Given the description of an element on the screen output the (x, y) to click on. 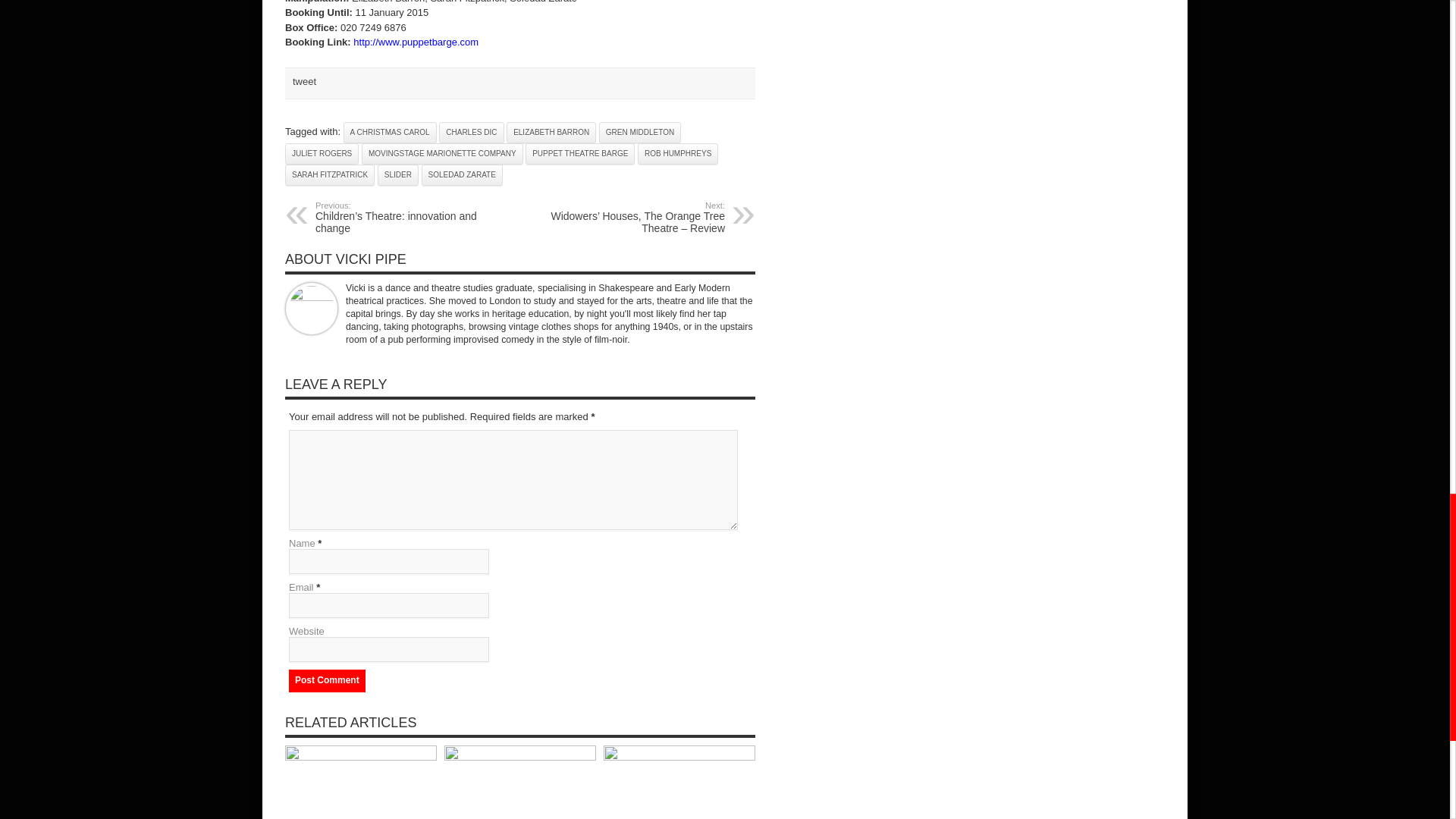
Good (412, 814)
Permalink to Review: How Dead Am I?, The Libra (519, 756)
Post Comment (326, 680)
